Given the description of an element on the screen output the (x, y) to click on. 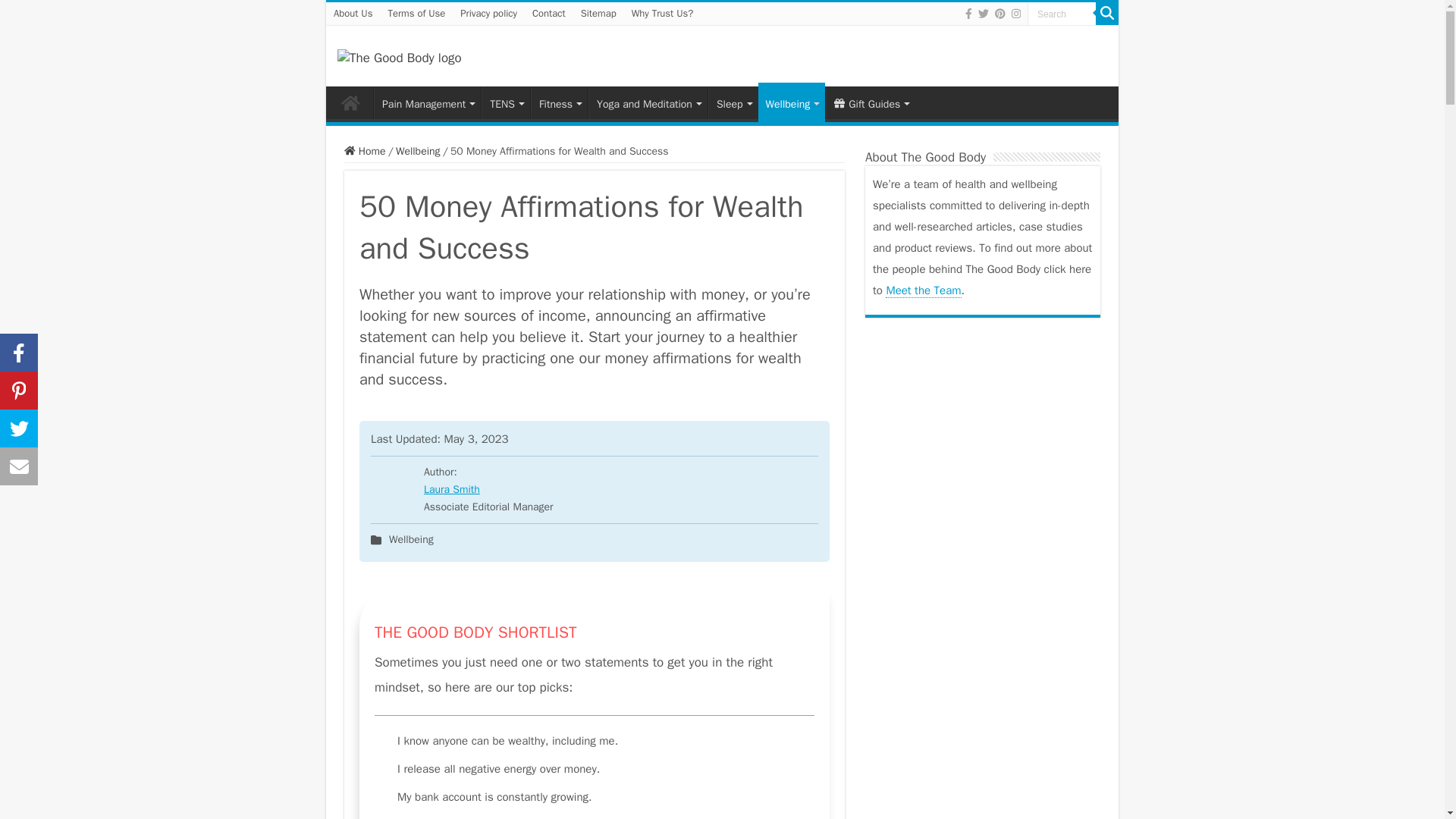
Search (1061, 13)
Search (1061, 13)
TENS (505, 101)
Privacy policy (488, 13)
Why Trust Us? (662, 13)
Terms of Use (416, 13)
Pain Management (427, 101)
Contact (548, 13)
Search (1061, 13)
About Us (353, 13)
